Given the description of an element on the screen output the (x, y) to click on. 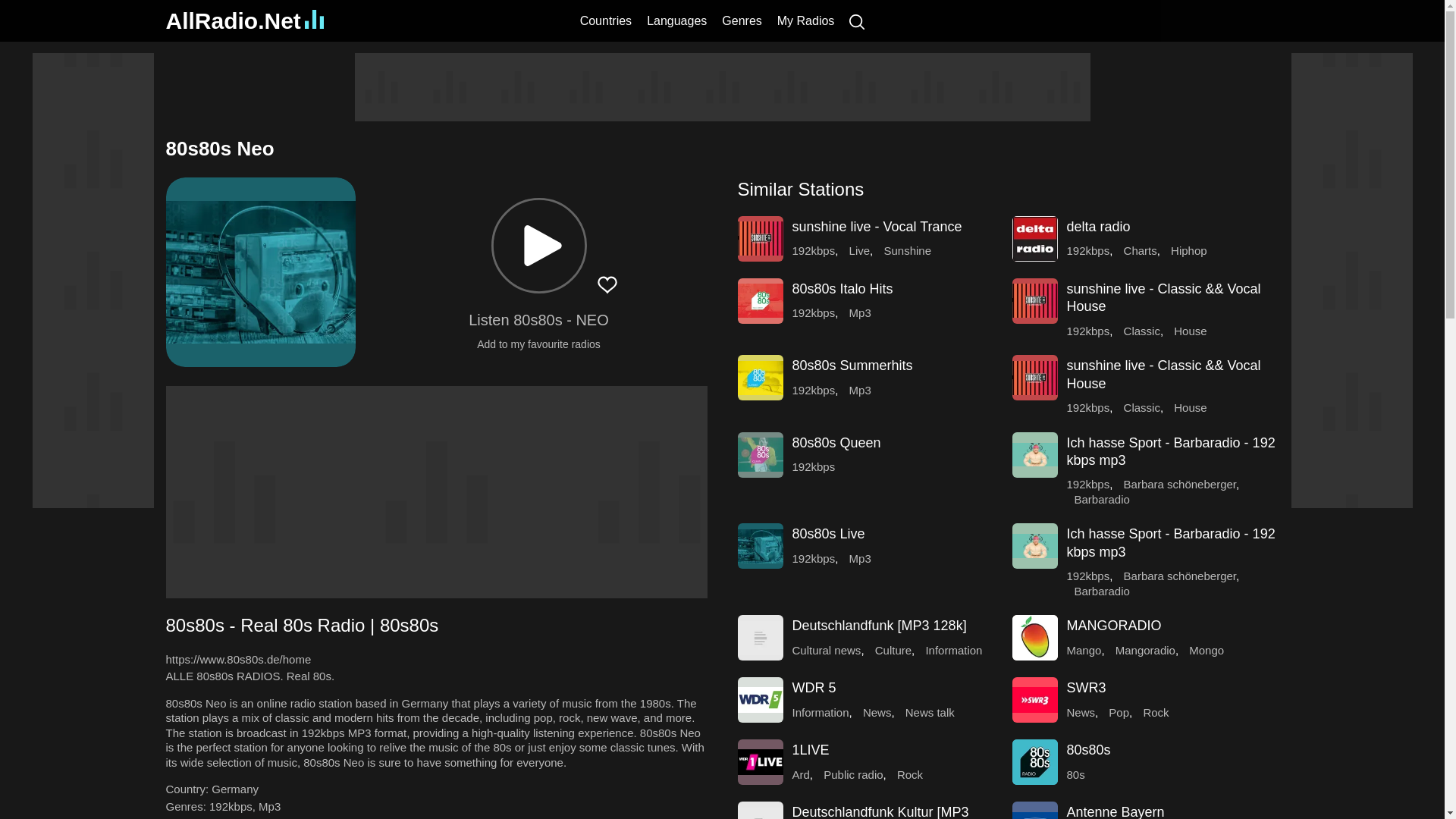
Mp3 (270, 806)
Classic (1142, 330)
sunshine live - Vocal Trance (876, 226)
192kbps (1087, 330)
delta radio (1097, 226)
Share (469, 283)
Charts (1140, 250)
Charts (1140, 250)
House (1190, 330)
Classic (1142, 407)
delta radio (1097, 226)
Germany (235, 788)
192kbps (230, 806)
Sunshine (907, 250)
192kbps (813, 312)
